Given the description of an element on the screen output the (x, y) to click on. 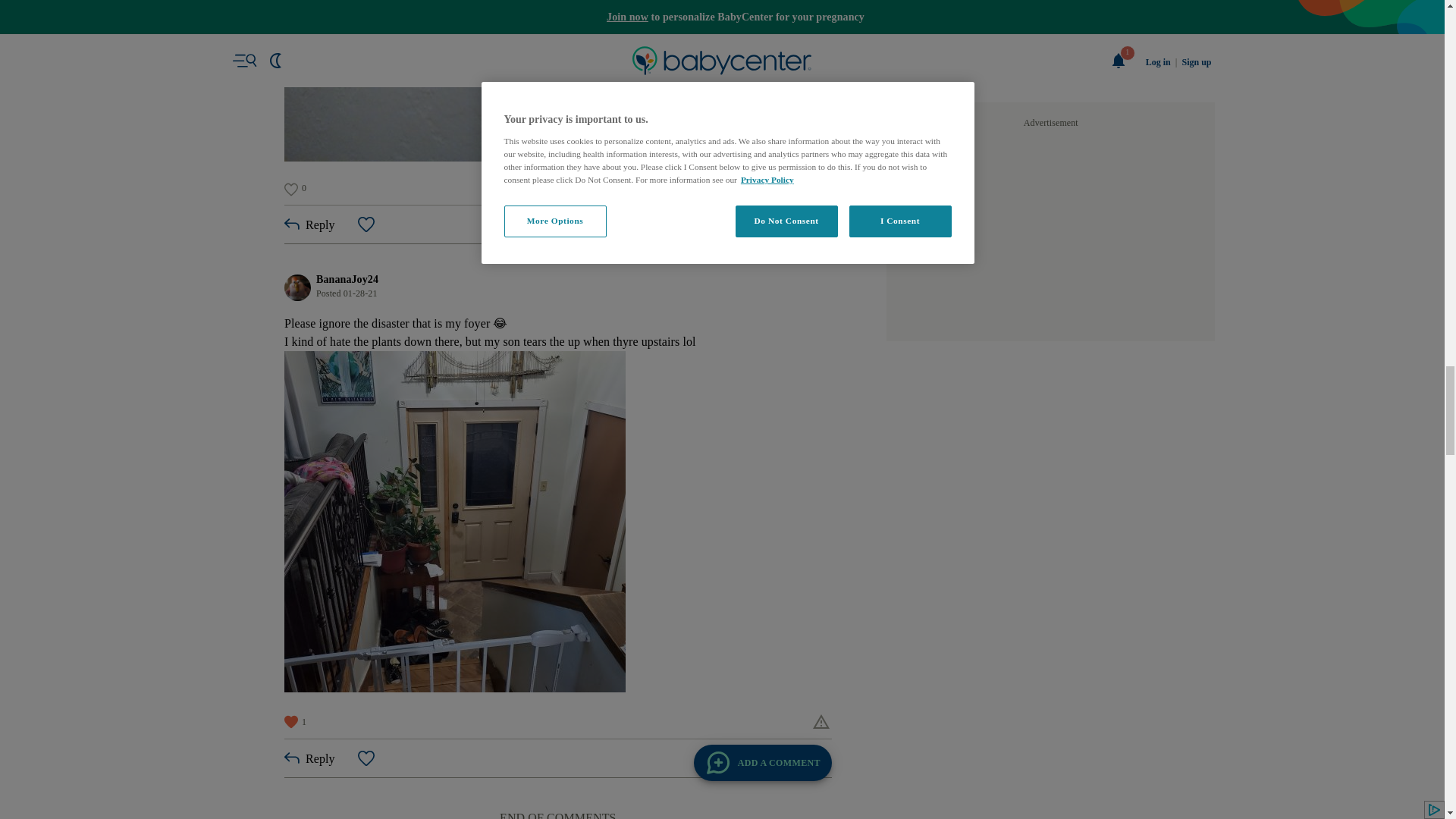
3 (541, 313)
Go to page number (541, 313)
